Given the description of an element on the screen output the (x, y) to click on. 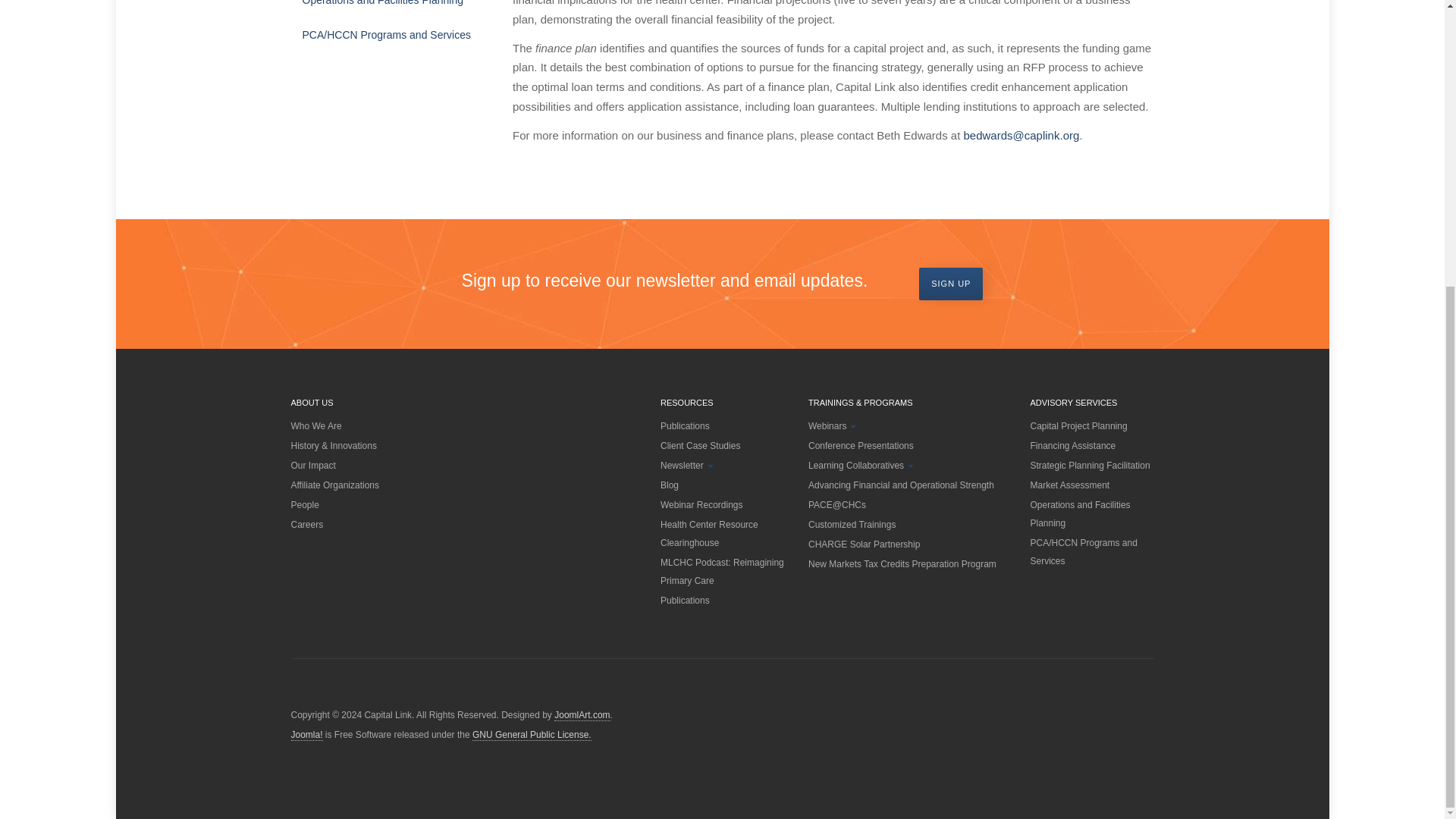
Visit Joomlart.com! (582, 715)
